Given the description of an element on the screen output the (x, y) to click on. 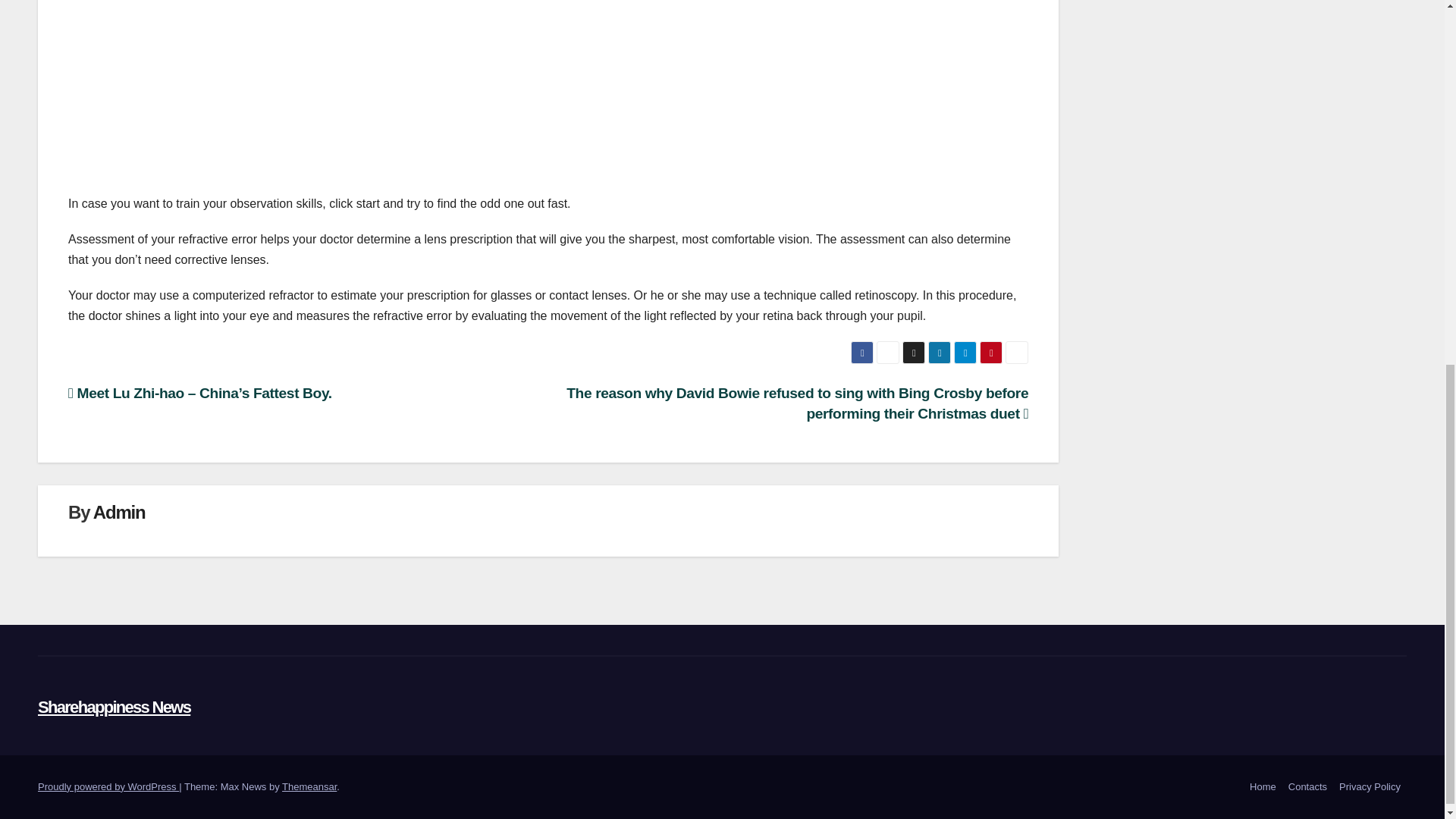
Home (1262, 786)
Admin (119, 512)
Sharehappiness News (113, 706)
